Given the description of an element on the screen output the (x, y) to click on. 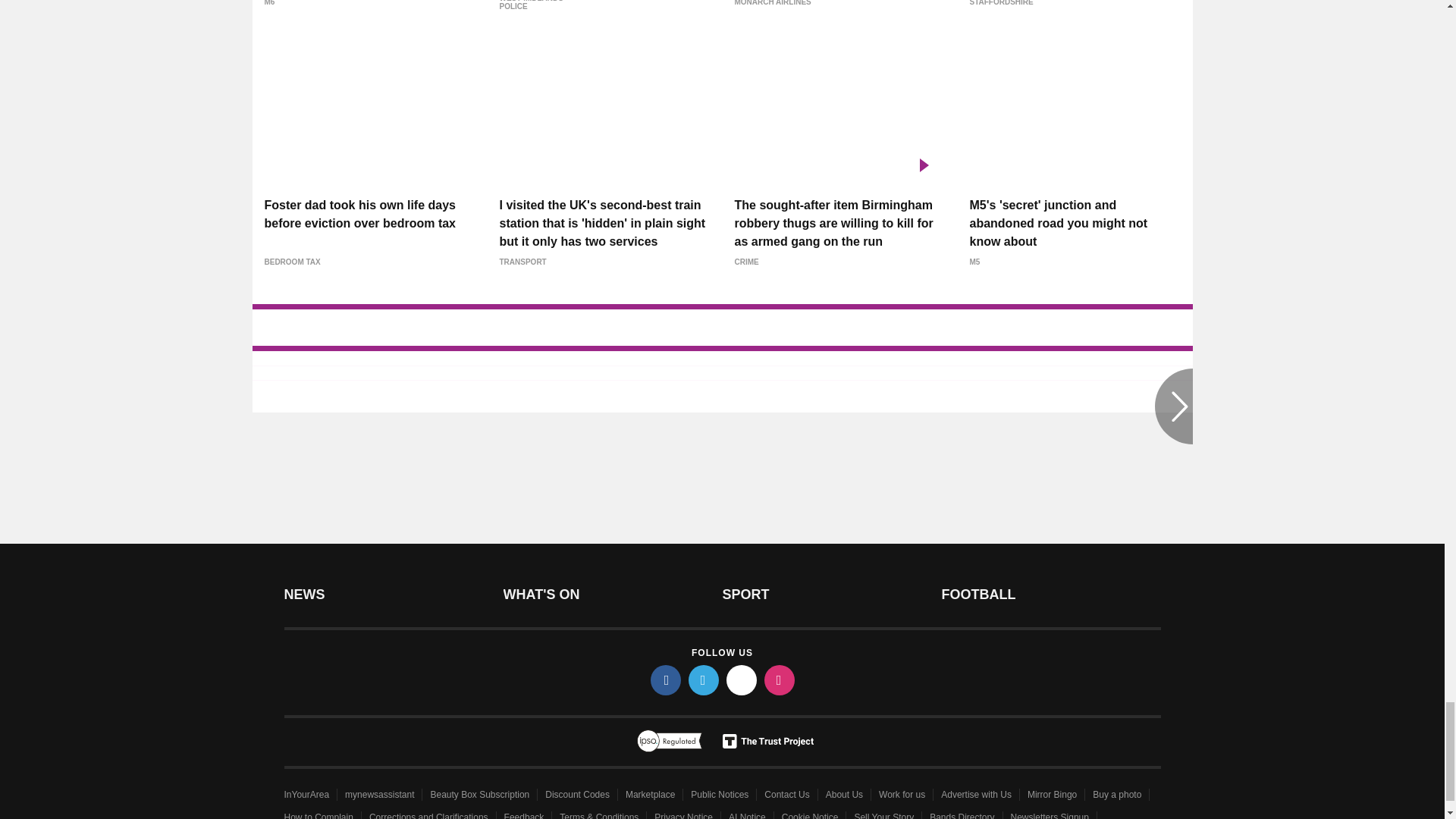
facebook (665, 680)
instagram (779, 680)
twitter (703, 680)
tiktok (741, 680)
